Given the description of an element on the screen output the (x, y) to click on. 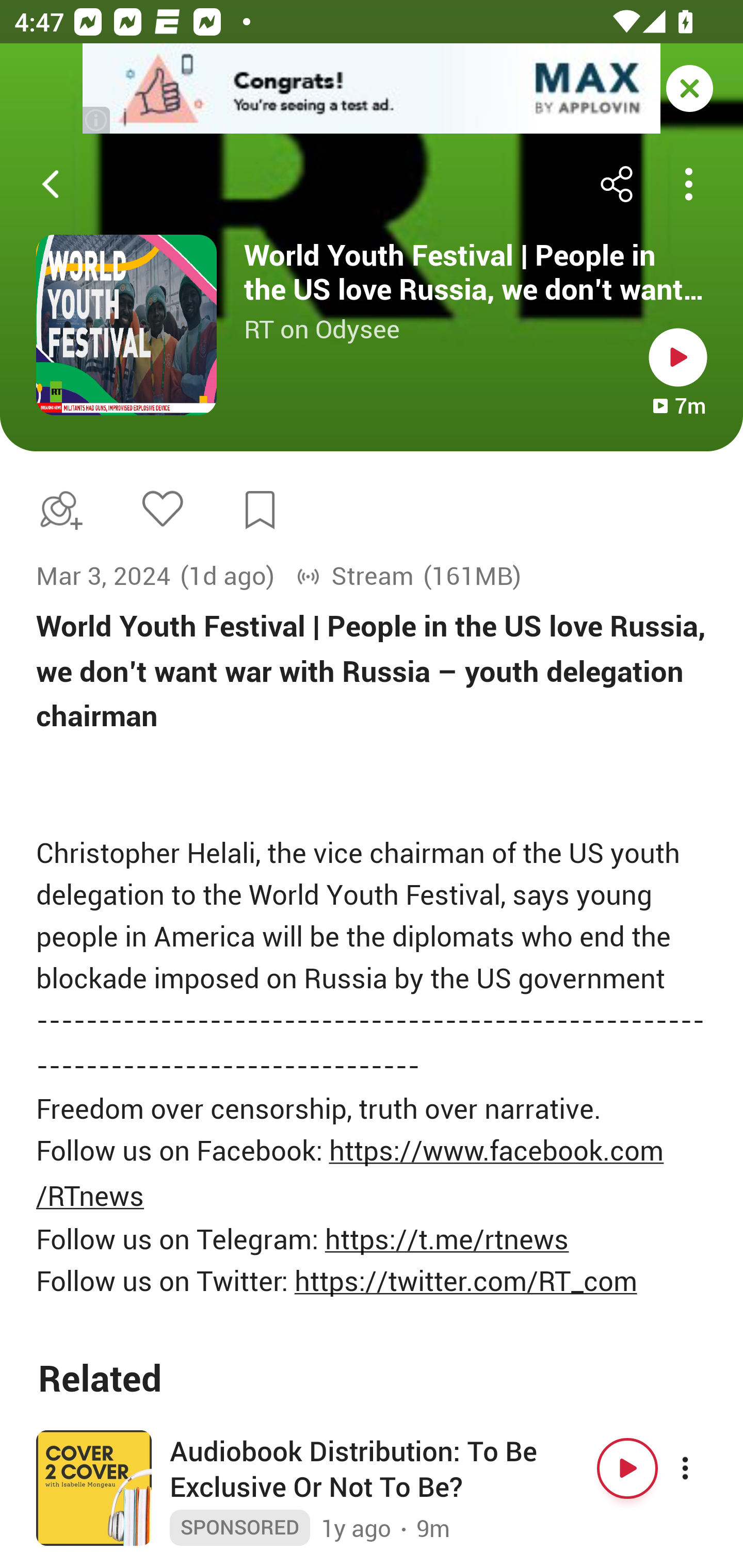
app-monetization (371, 88)
(i) (96, 119)
Back (50, 184)
Open series (126, 325)
Play button (677, 357)
Like (161, 507)
Add episode to Play Later (57, 509)
New bookmark … (259, 510)
Stream (354, 576)
Play button (627, 1468)
More options (703, 1468)
